Given the description of an element on the screen output the (x, y) to click on. 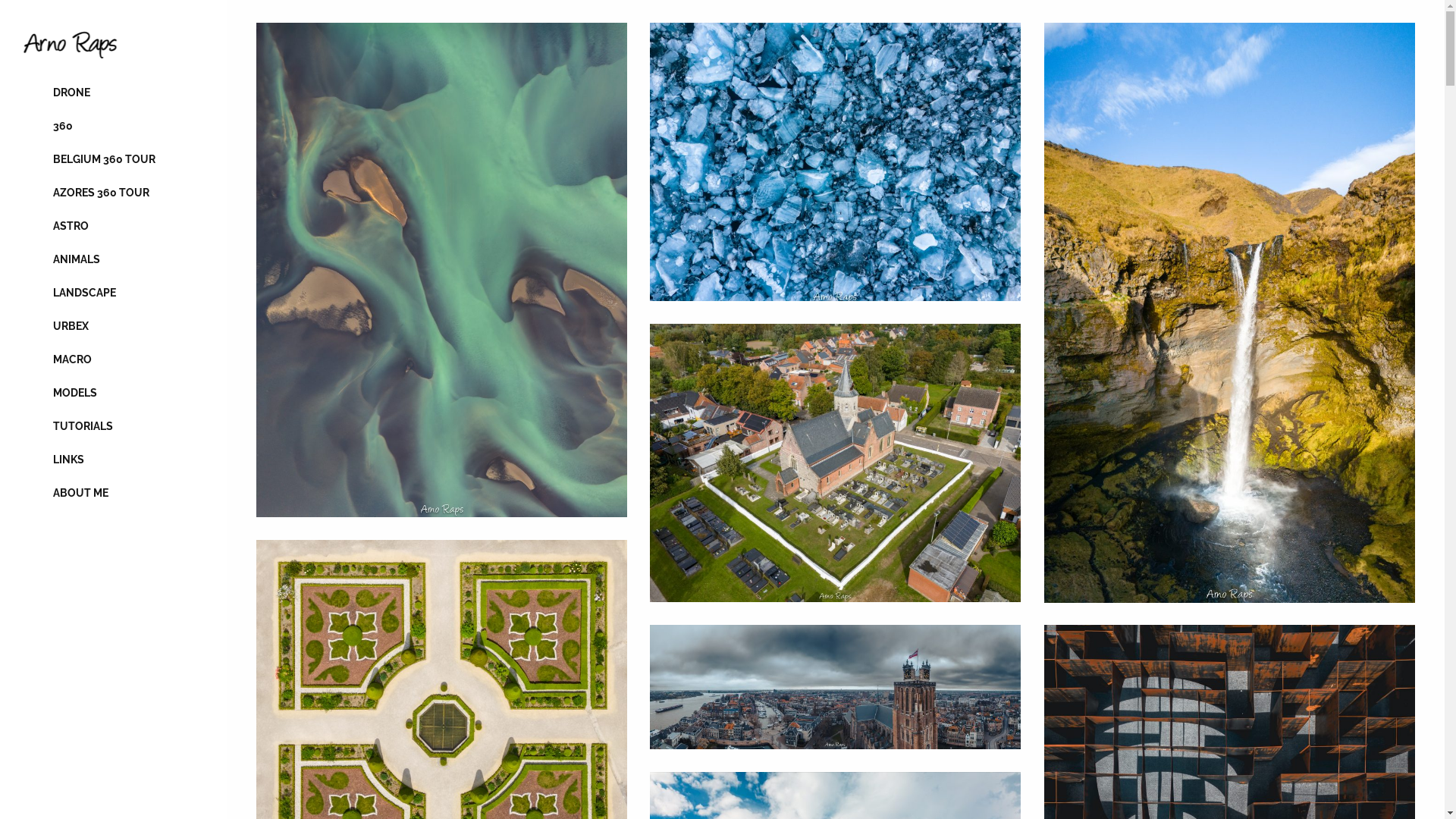
AZORES 360 TOUR Element type: text (113, 192)
MODELS Element type: text (113, 392)
MACRO Element type: text (113, 359)
ABOUT ME Element type: text (113, 492)
DRONE Element type: text (113, 92)
LANDSCAPE Element type: text (113, 292)
360 Element type: text (113, 125)
TUTORIALS Element type: text (113, 425)
ANIMALS Element type: text (113, 259)
URBEX Element type: text (113, 325)
BELGIUM 360 TOUR Element type: text (113, 158)
LINKS Element type: text (113, 459)
ASTRO Element type: text (113, 225)
